Given the description of an element on the screen output the (x, y) to click on. 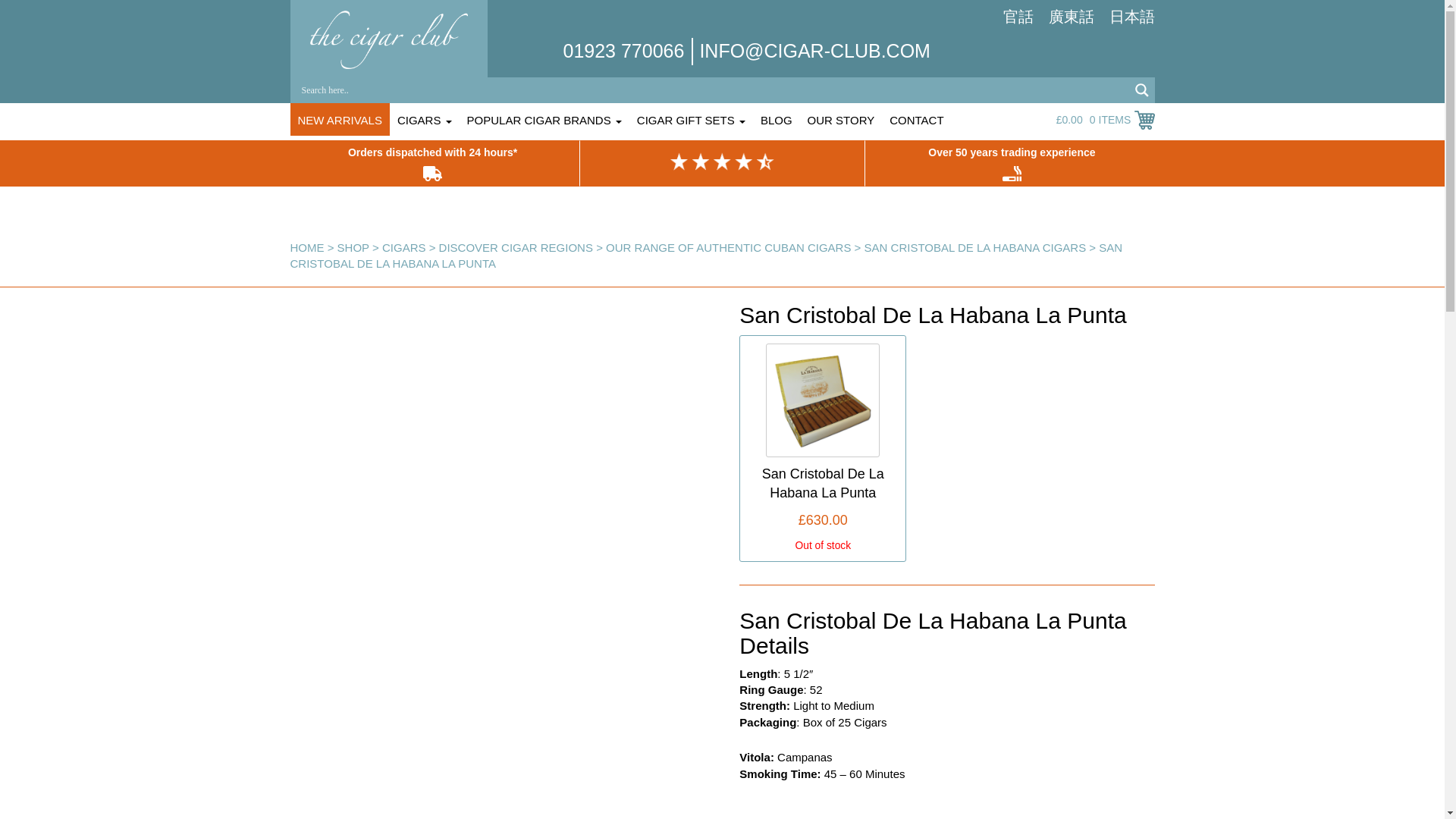
San Cristobal De La Habana La Punta (822, 399)
CONTACT (916, 122)
OUR STORY (841, 122)
Cigar club (387, 38)
BLOG (776, 122)
NEW ARRIVALS (339, 122)
01923 770066 (623, 50)
MY ACCOUNT (997, 122)
CIGARS (424, 122)
POPULAR CIGAR BRANDS (544, 122)
